Given the description of an element on the screen output the (x, y) to click on. 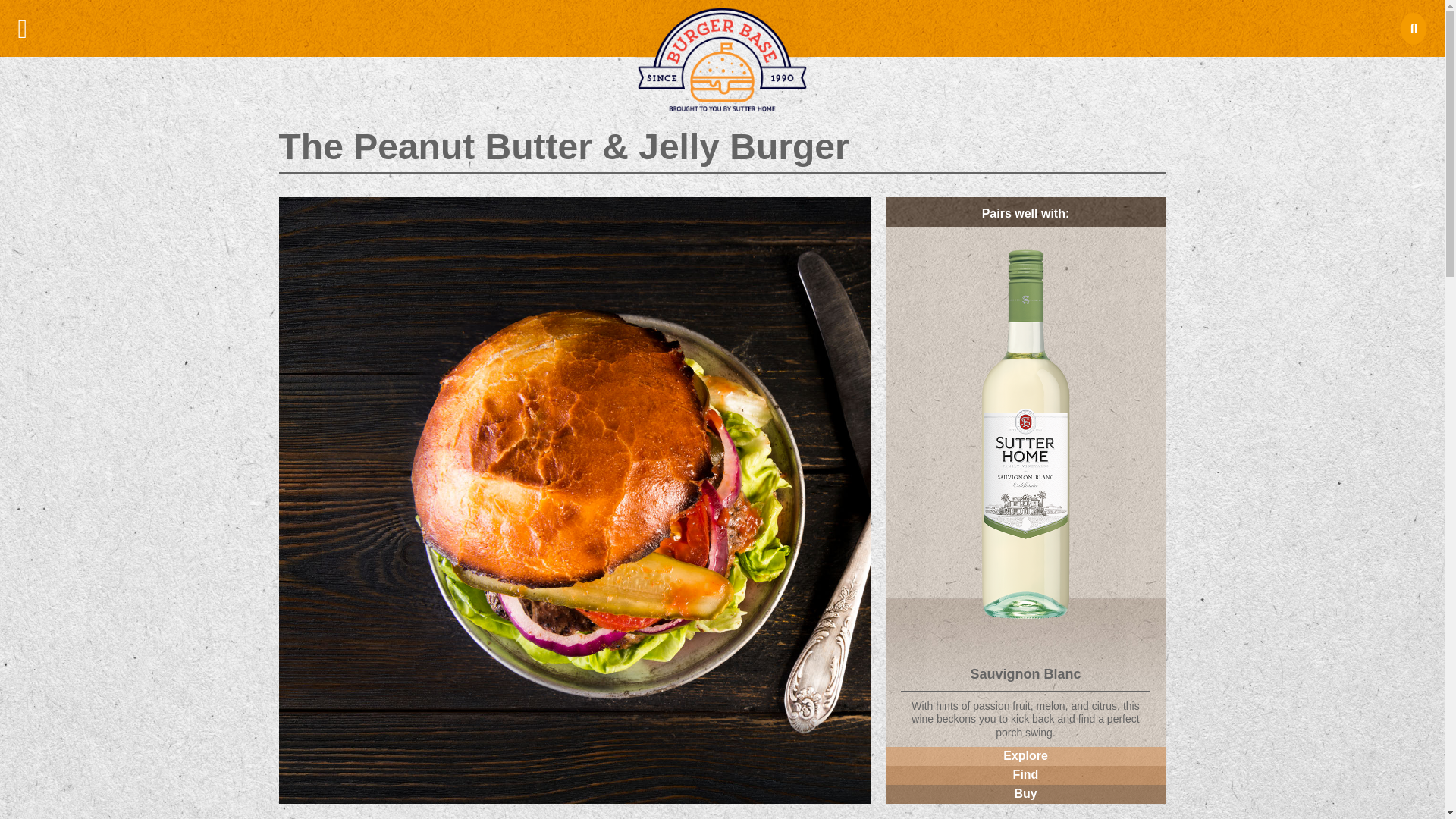
Open Menu (22, 28)
Explore (1025, 755)
Buy (1025, 793)
Open Search (1413, 28)
Find (1025, 774)
Burgerbase: Since 1990 - Brought to you by Sutter Home (722, 55)
